Given the description of an element on the screen output the (x, y) to click on. 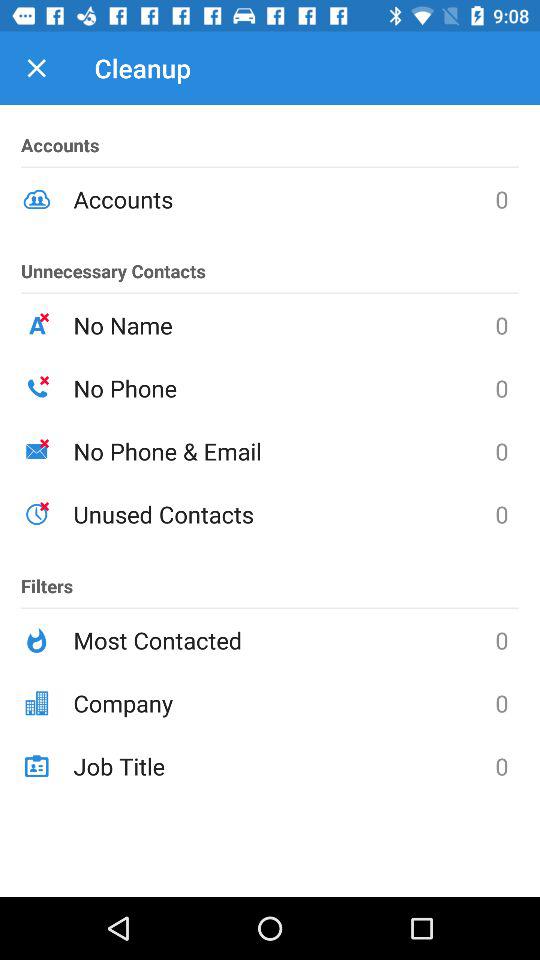
choose item to the left of the cleanup icon (36, 68)
